Given the description of an element on the screen output the (x, y) to click on. 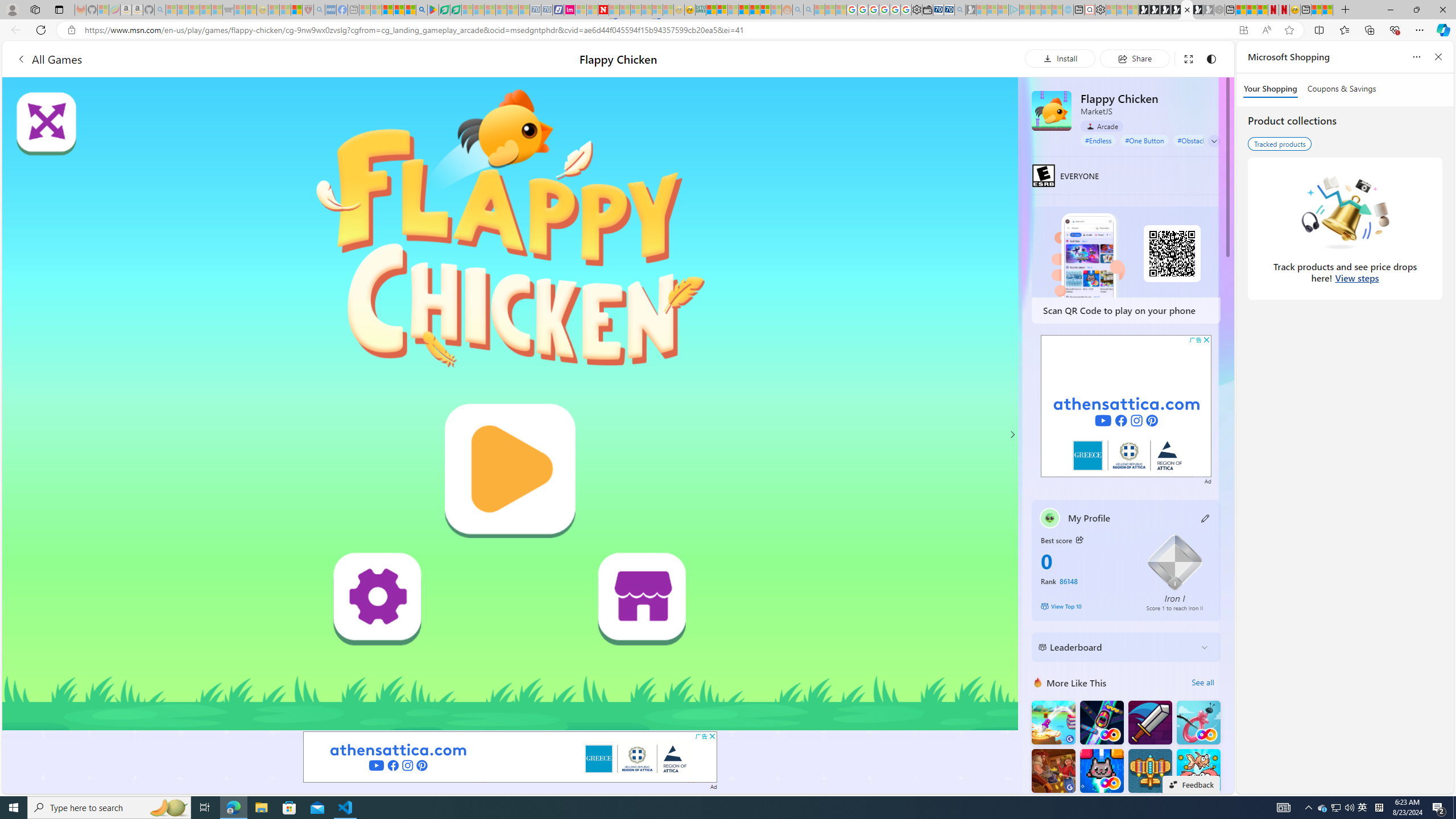
Terms of Use Agreement (443, 9)
Knife Flip (1053, 722)
